Given the description of an element on the screen output the (x, y) to click on. 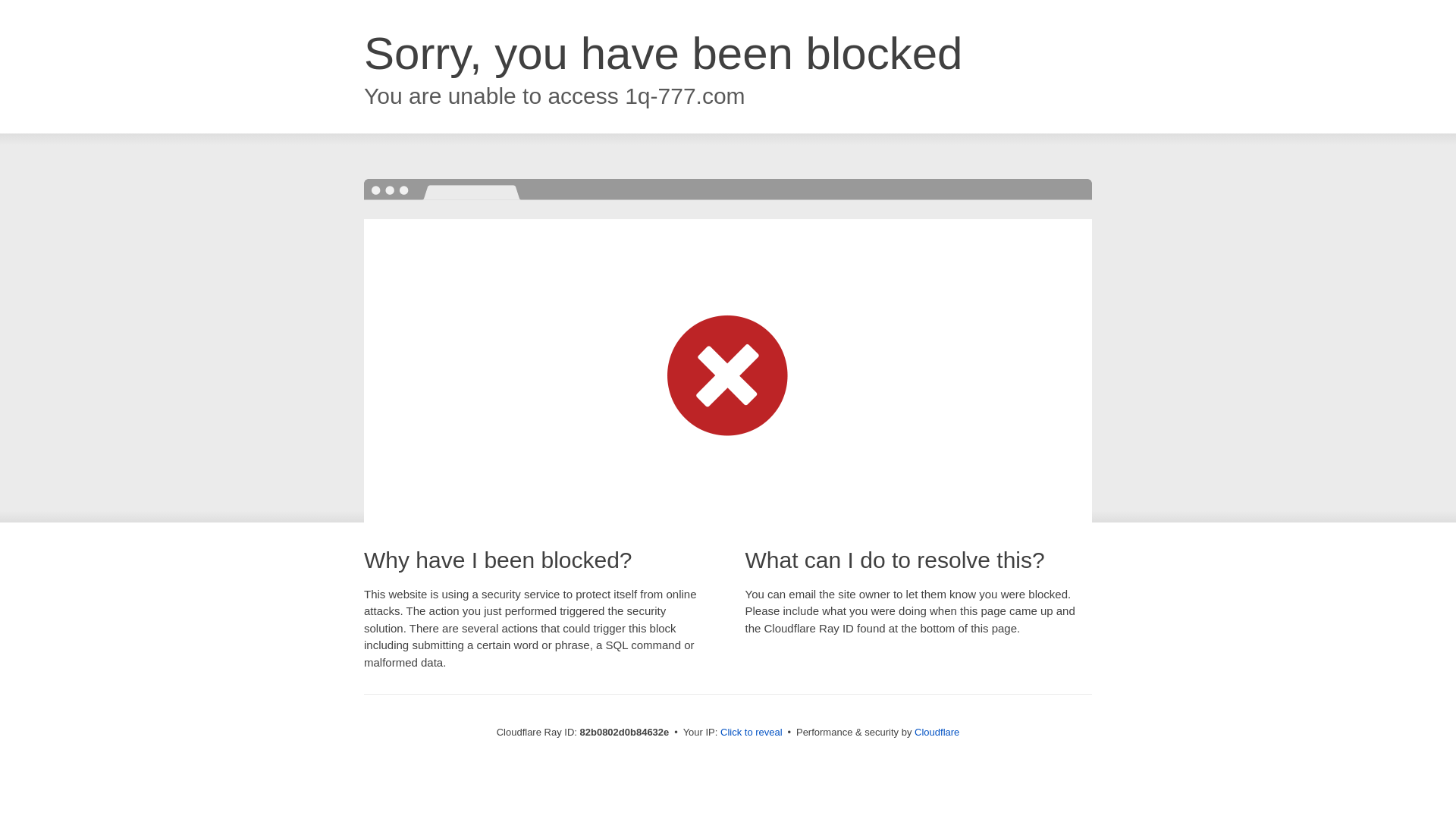
Cloudflare Element type: text (936, 731)
Click to reveal Element type: text (751, 732)
